Given the description of an element on the screen output the (x, y) to click on. 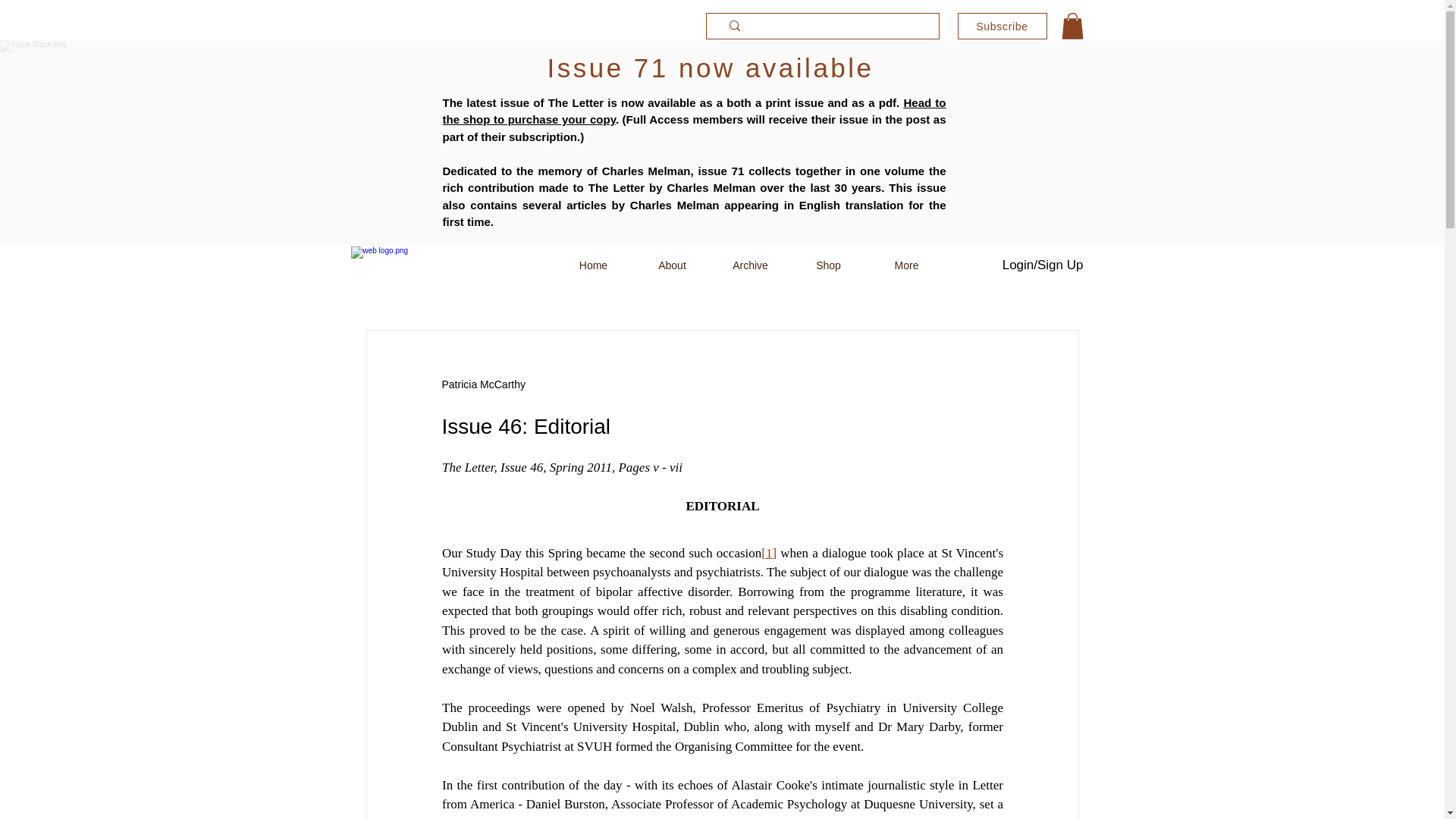
Home (592, 265)
Patricia McCarthy (482, 384)
Patricia McCarthy (482, 384)
Head to the shop to purchase your copy (694, 111)
Shop (827, 265)
Subscribe (1001, 26)
